Given the description of an element on the screen output the (x, y) to click on. 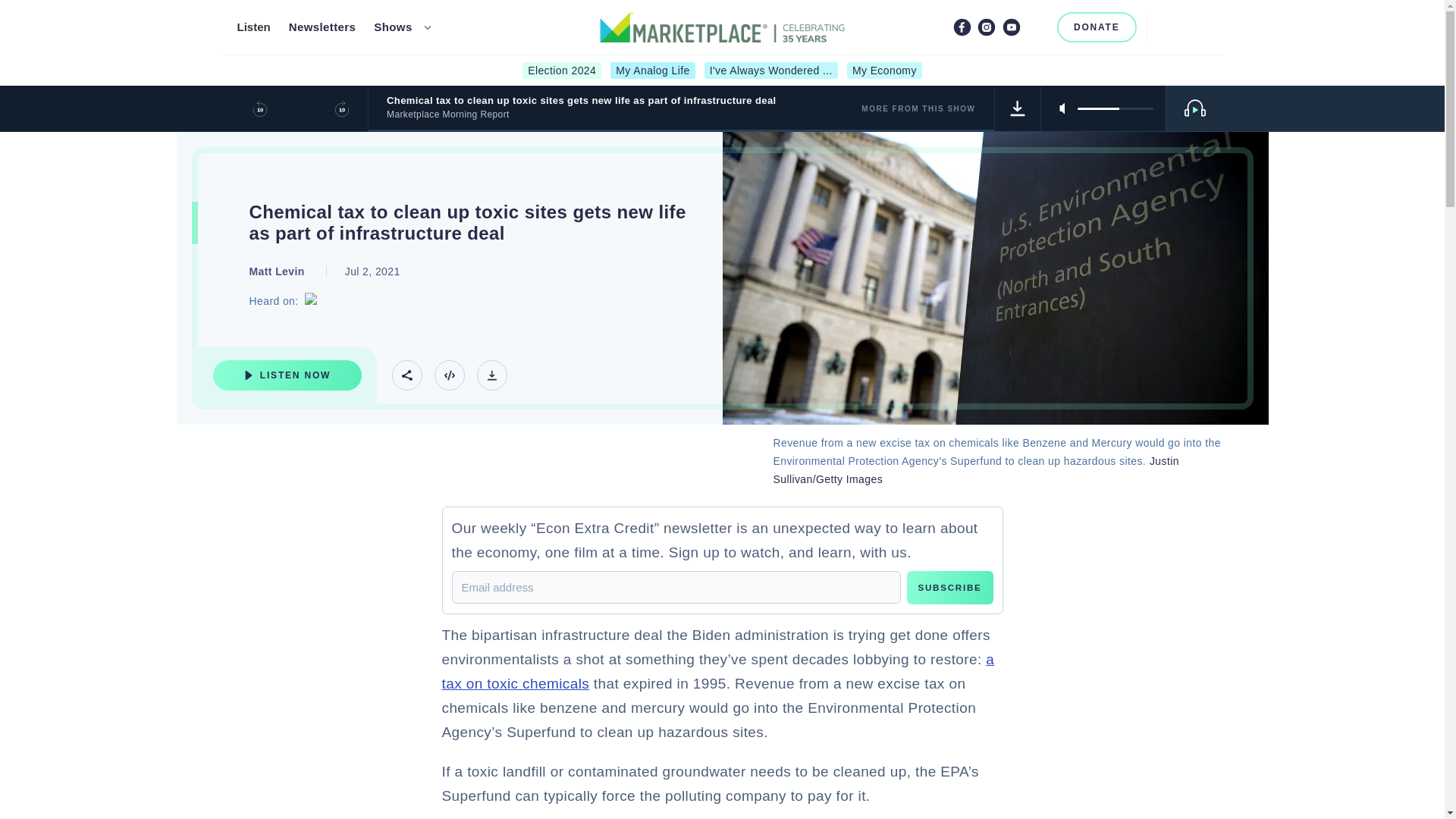
5 (1115, 108)
Menu (1198, 27)
volume (1115, 108)
TikTok (1035, 27)
Download Track (491, 374)
Listen Now (286, 374)
Search (1164, 27)
DONATE (1097, 27)
Newsletters (322, 27)
Download Track (1017, 108)
Instagram (985, 27)
Listen (252, 26)
Youtube (1011, 27)
Facebook (962, 27)
